Given the description of an element on the screen output the (x, y) to click on. 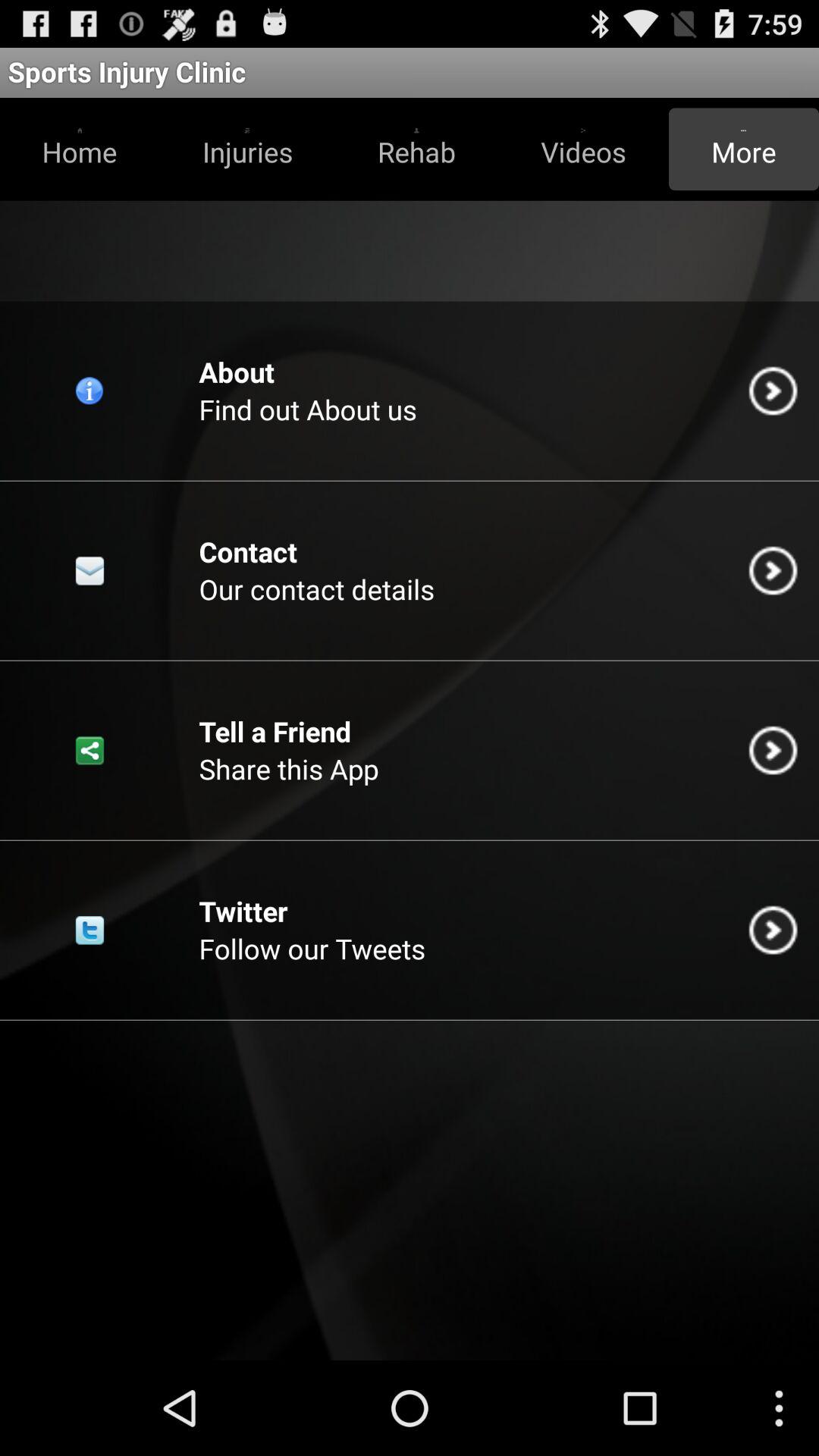
click app below the sports injury clinic app (743, 149)
